Given the description of an element on the screen output the (x, y) to click on. 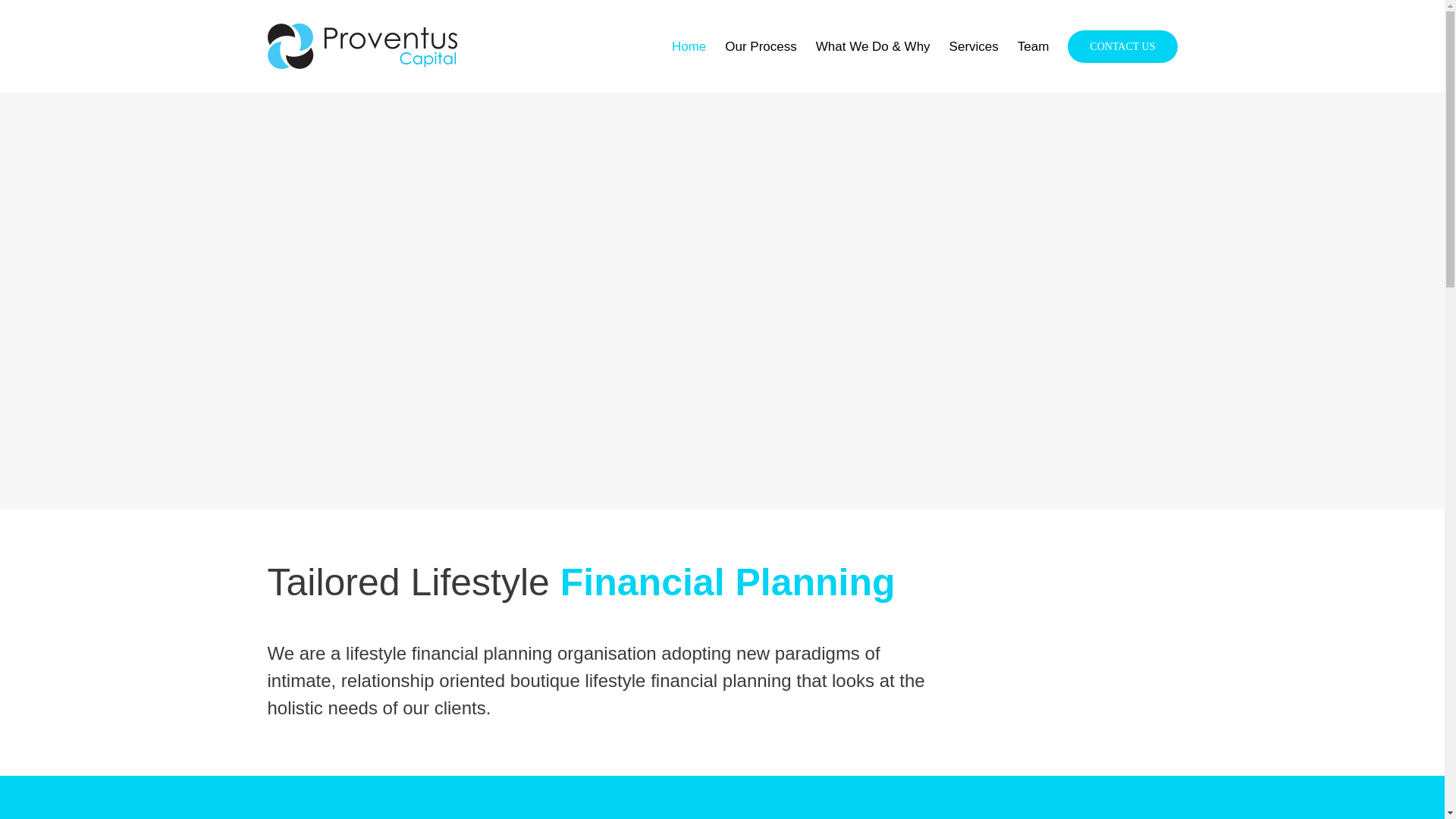
Our Process (760, 46)
CONTACT US (1121, 46)
Home (688, 46)
Team (1033, 46)
Welcome to Proventus Capital (688, 46)
Services (973, 46)
